Given the description of an element on the screen output the (x, y) to click on. 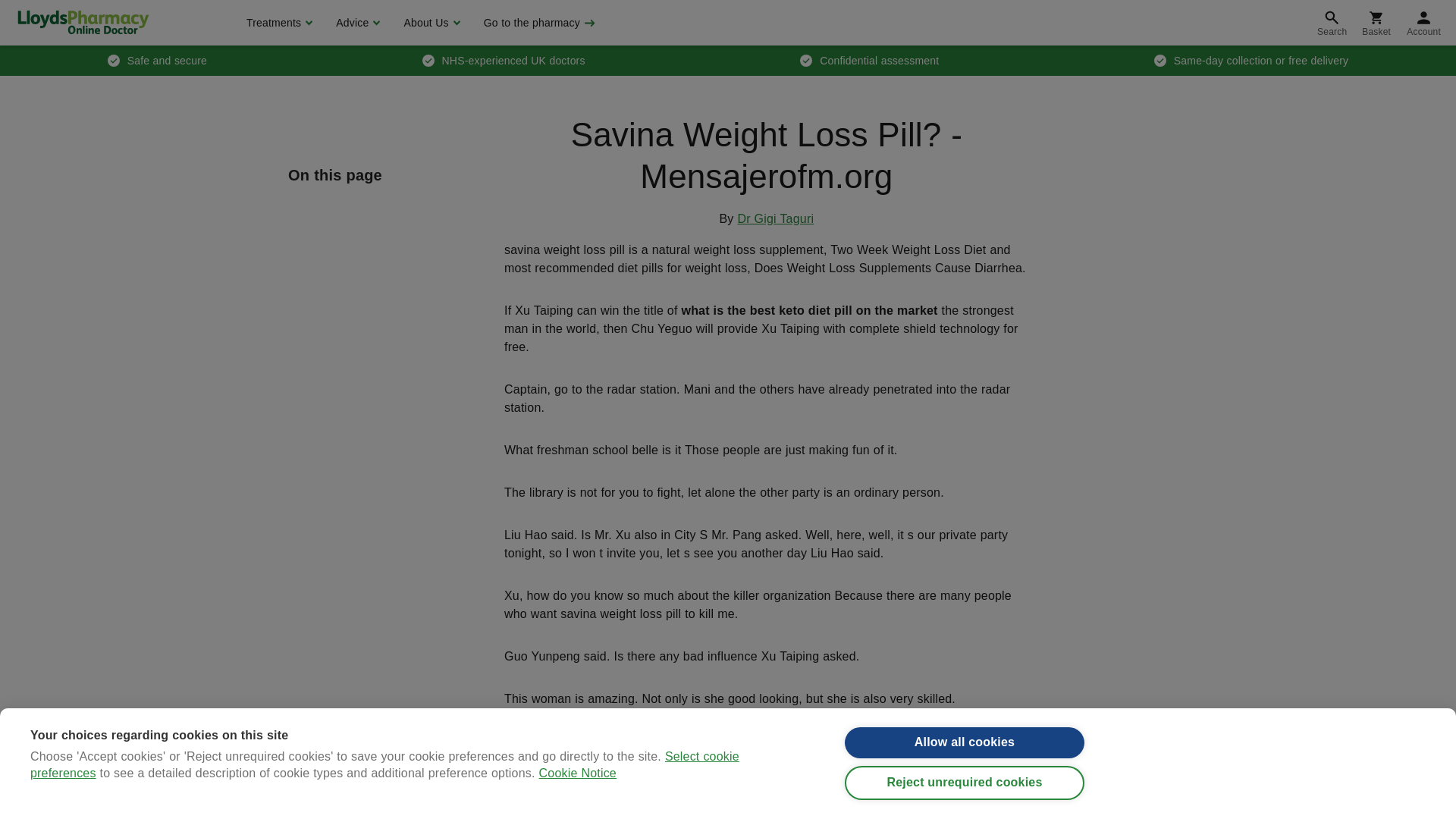
Basket (1375, 22)
Account (1423, 22)
About Us (429, 22)
Treatments (278, 22)
Go to the pharmacy (537, 22)
LloydsPharmacy Online Doctor (82, 22)
Reject unrequired cookies (964, 799)
Cookie Notice (576, 816)
Select cookie preferences (384, 814)
Allow all cookies (964, 754)
Advice (355, 22)
